Given the description of an element on the screen output the (x, y) to click on. 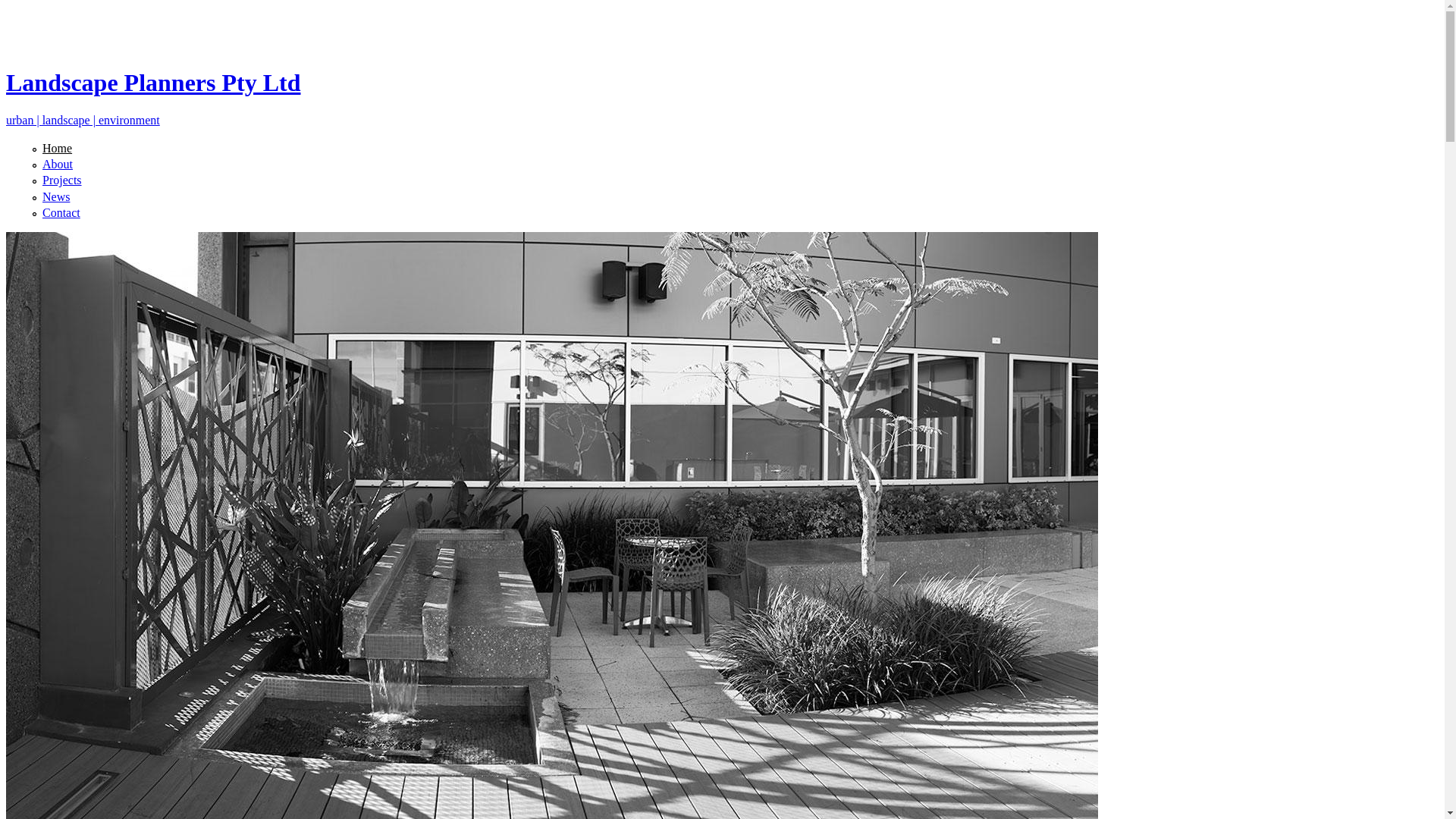
News Element type: text (55, 196)
Projects Element type: text (61, 179)
Contact Element type: text (61, 212)
About Element type: text (57, 163)
Skip to main content Element type: text (56, 6)
Landscape Planners Pty Ltd
urban | landscape | environment Element type: text (722, 82)
Home Element type: text (57, 147)
